Given the description of an element on the screen output the (x, y) to click on. 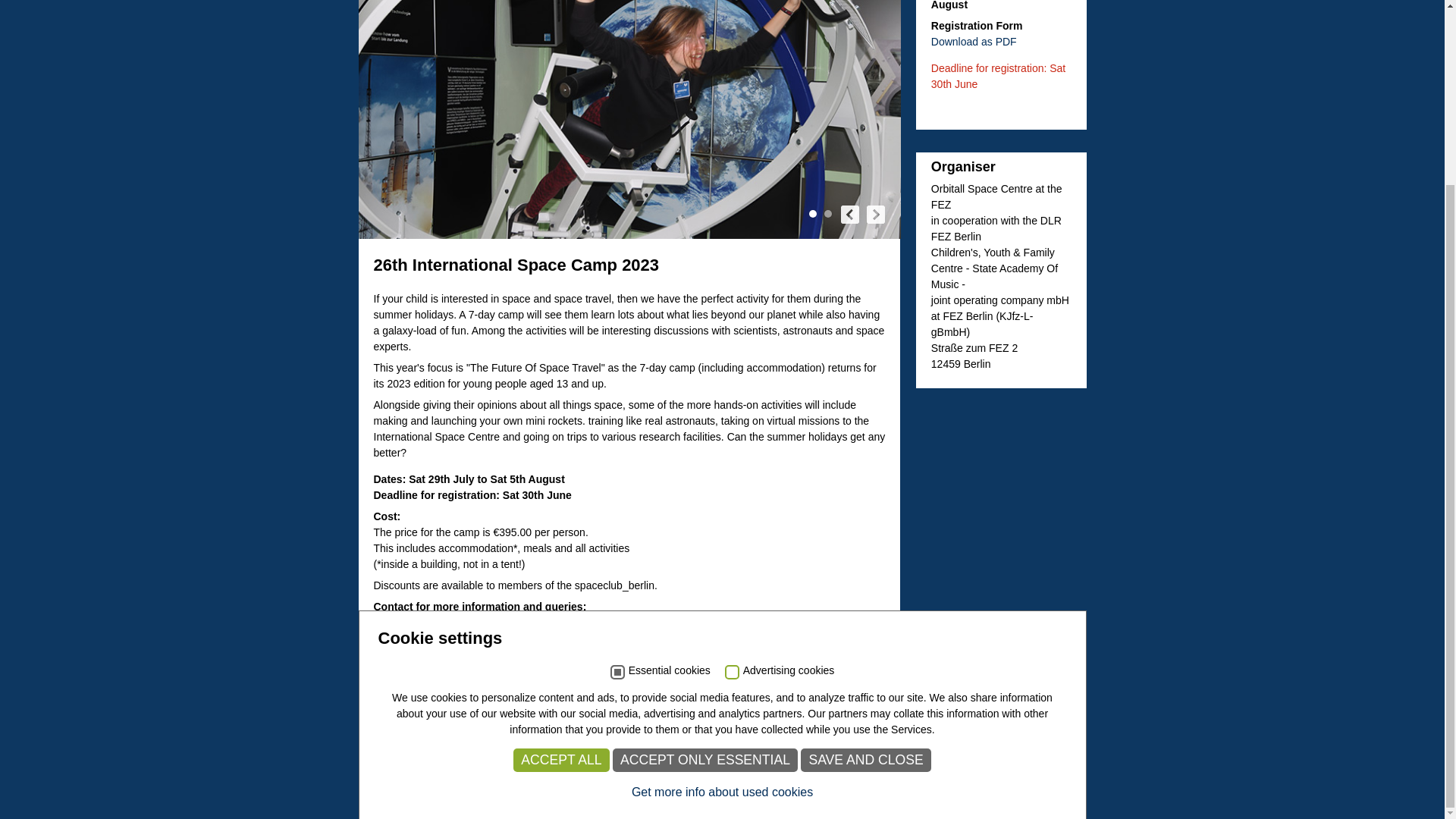
Downloads PDF (973, 41)
Nach oben (1061, 790)
